Given the description of an element on the screen output the (x, y) to click on. 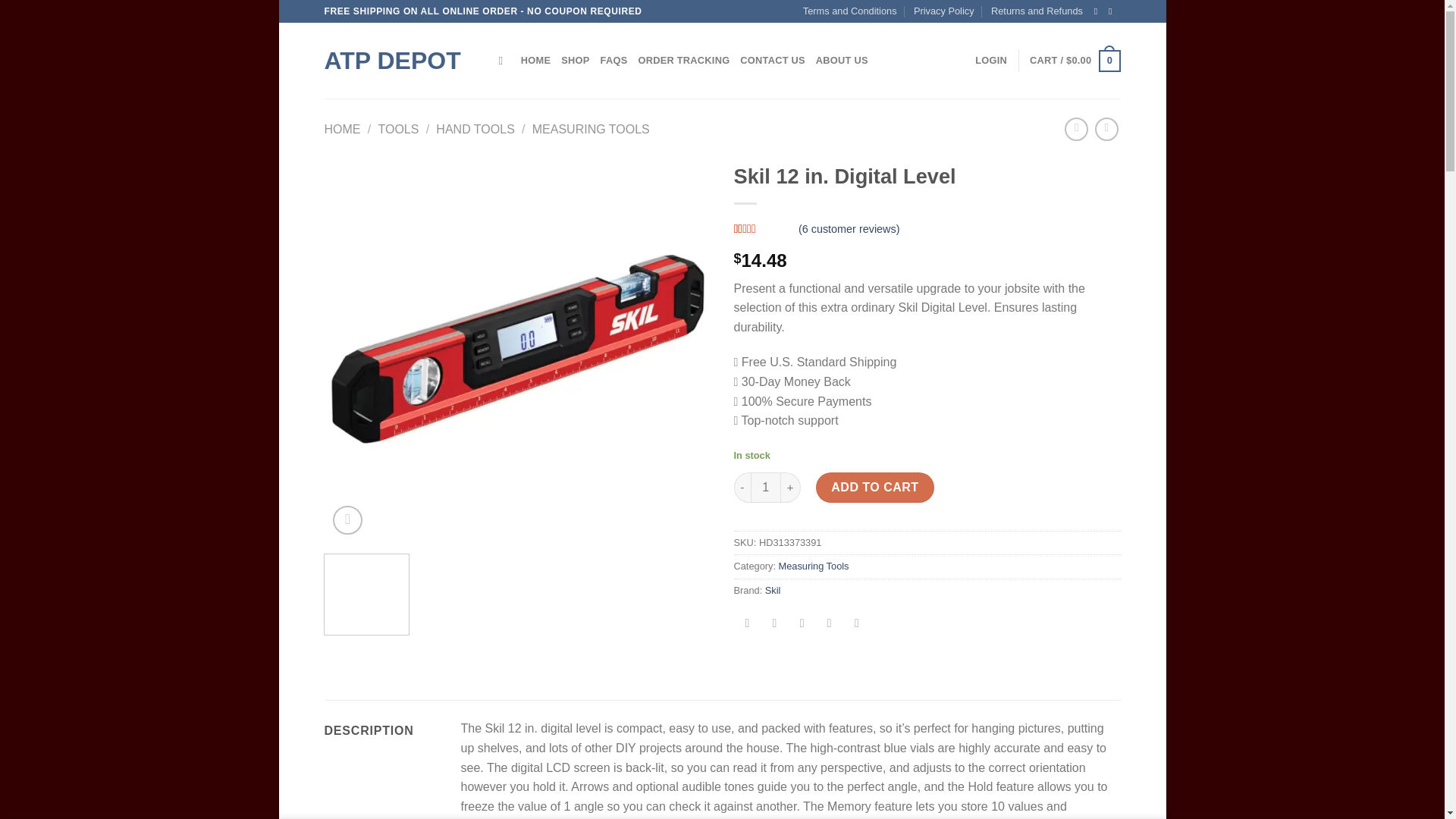
MEASURING TOOLS (590, 128)
CONTACT US (772, 60)
HOME (535, 60)
ABOUT US (841, 60)
HOME (342, 128)
HAND TOOLS (474, 128)
TOOLS (398, 128)
SHOP (574, 60)
ORDER TRACKING (683, 60)
